Given the description of an element on the screen output the (x, y) to click on. 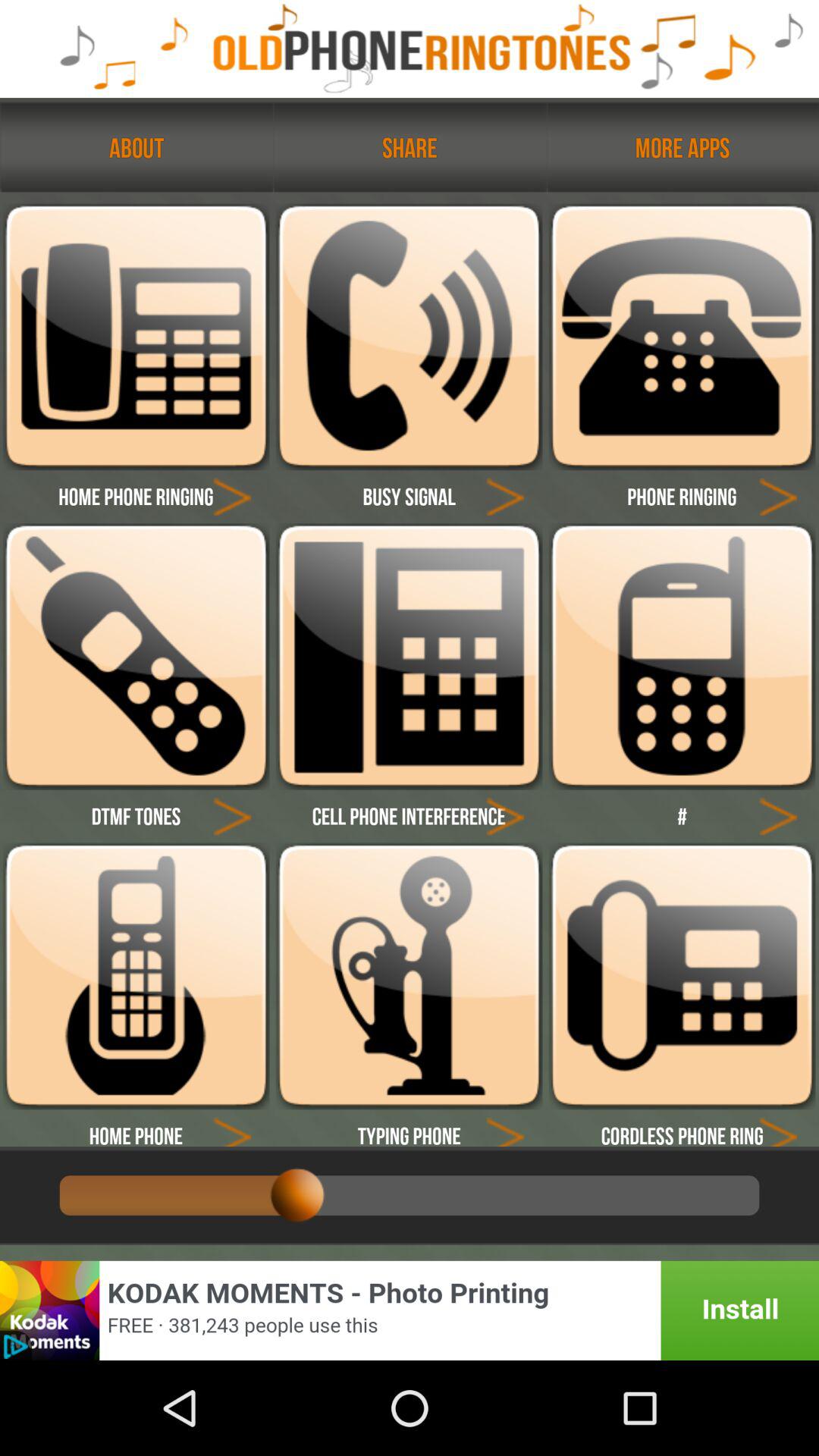
home phone option (232, 1127)
